Given the description of an element on the screen output the (x, y) to click on. 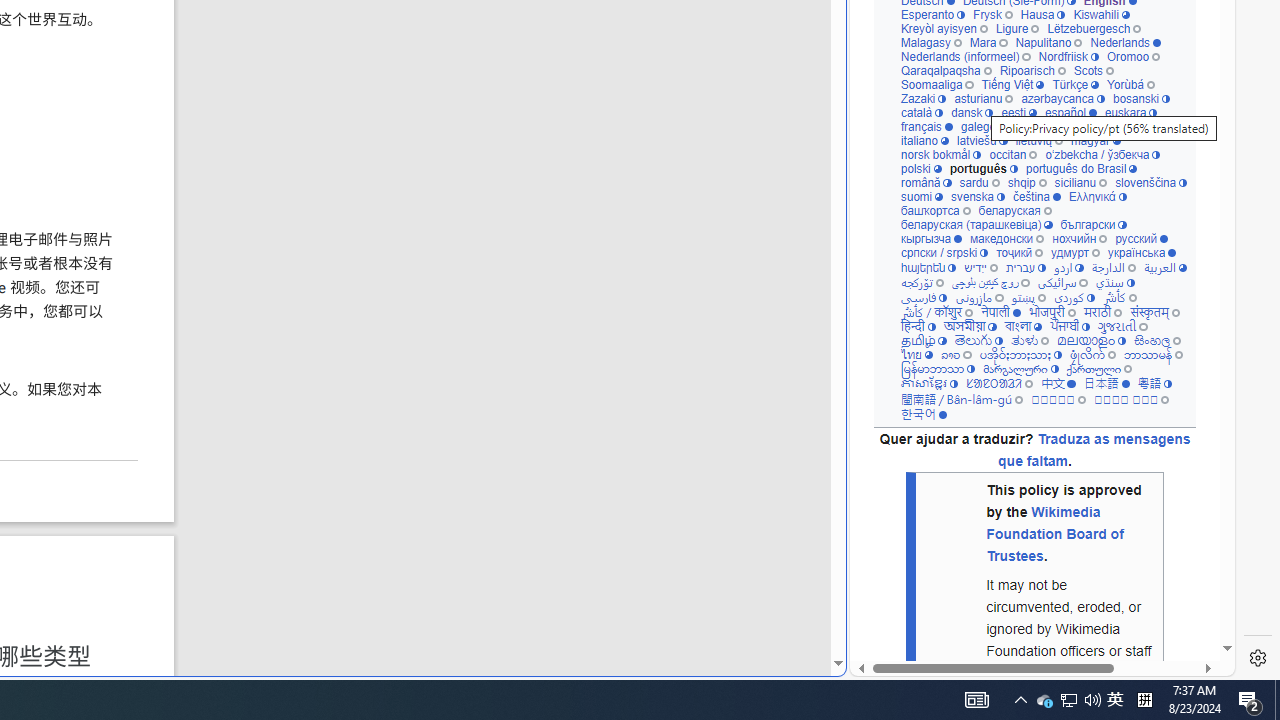
svenska (976, 195)
bosanski (1141, 97)
eesti (1018, 112)
